Given the description of an element on the screen output the (x, y) to click on. 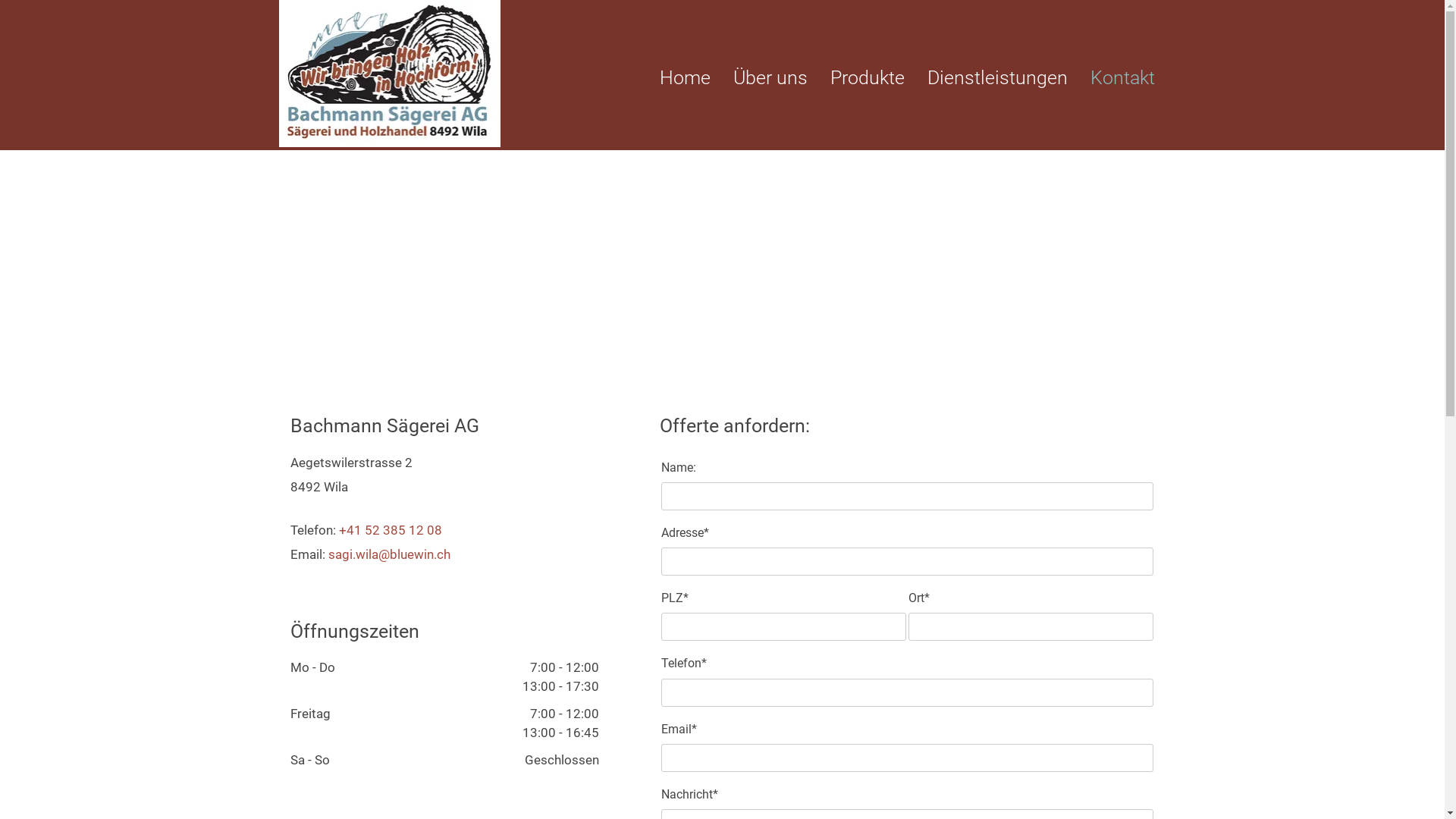
sagi.wila@bluewin.ch Element type: text (388, 553)
Dienstleistungen Element type: text (996, 77)
Produkte Element type: text (866, 77)
Kontakt Element type: text (1122, 77)
Home Element type: text (684, 77)
+41 52 385 12 08 Element type: text (389, 529)
